Given the description of an element on the screen output the (x, y) to click on. 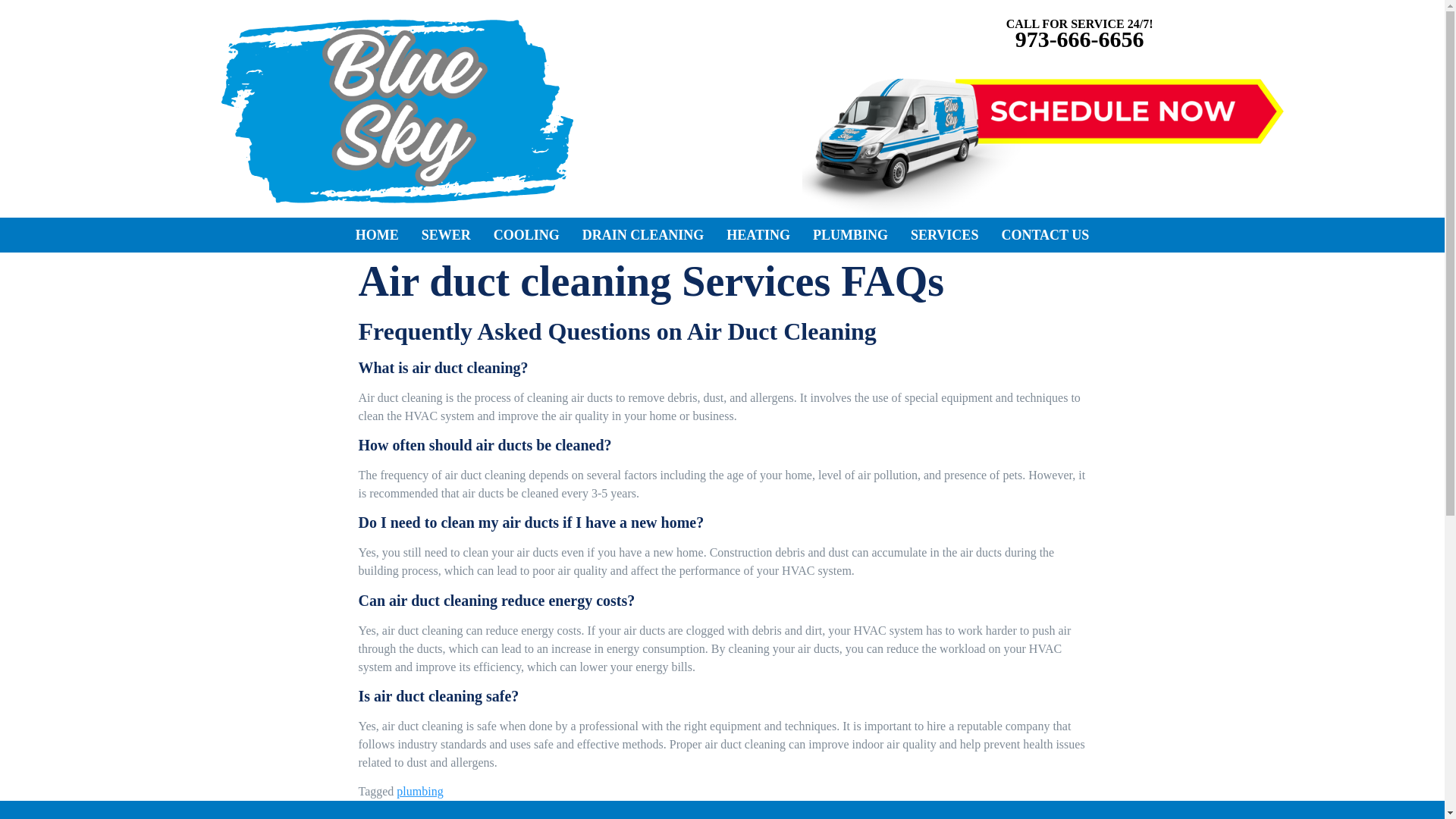
CONTACT US (1045, 234)
COOLING (525, 234)
SEWER (445, 234)
HOME (376, 234)
DRAIN CLEANING (643, 234)
HEATING (758, 234)
PLUMBING (850, 234)
SERVICES (944, 234)
